Given the description of an element on the screen output the (x, y) to click on. 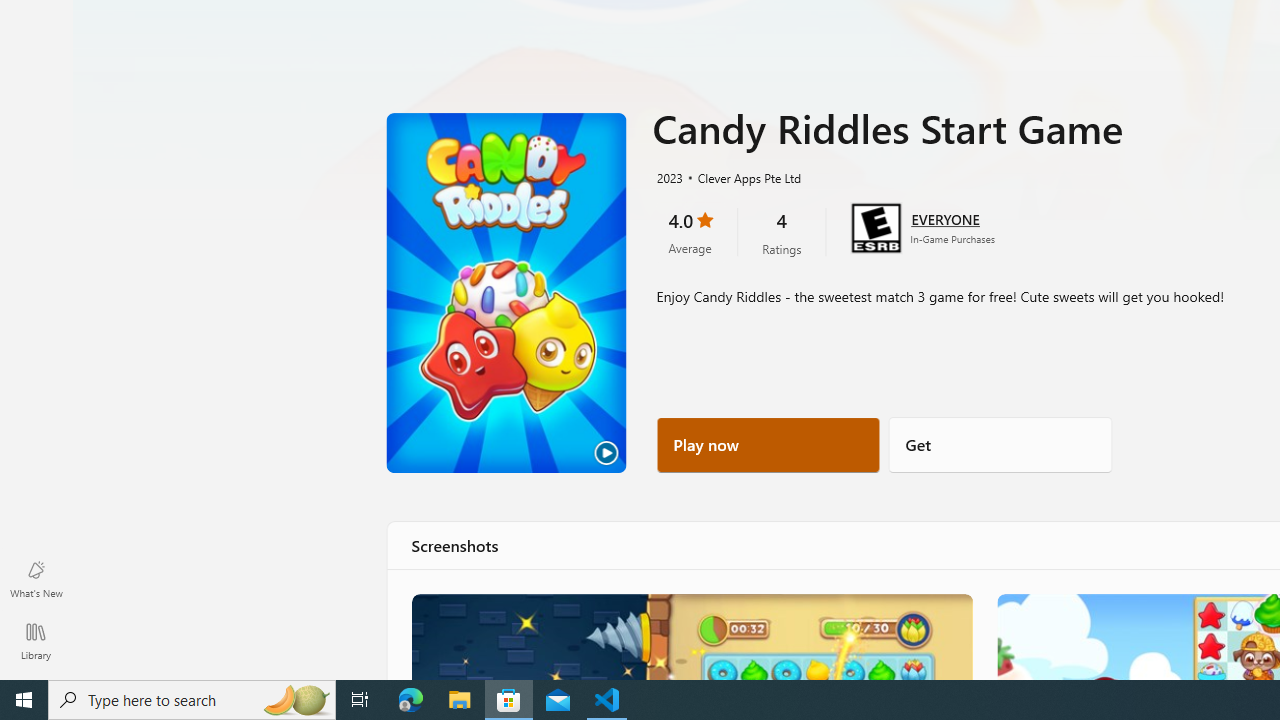
Age rating: EVERYONE. Click for more information. (945, 218)
Clever Apps Pte Ltd (741, 177)
Play now (767, 444)
Candy Riddles (690, 636)
4.0 stars. Click to skip to ratings and reviews (689, 232)
Play Trailer (505, 293)
What's New (35, 578)
Class: Image (690, 636)
2023 (667, 177)
Library (35, 640)
Get (1000, 444)
